Given the description of an element on the screen output the (x, y) to click on. 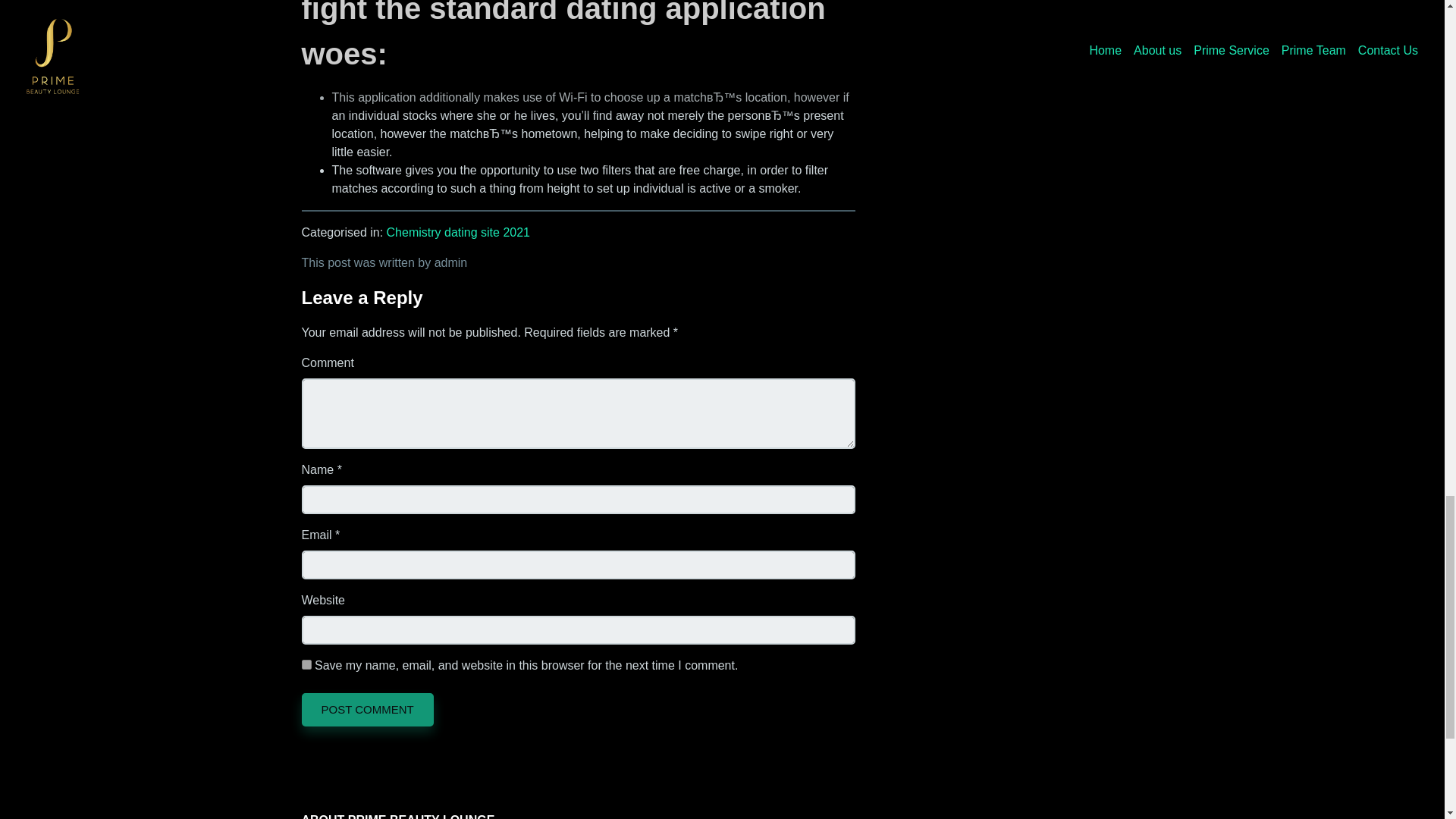
Chemistry dating site 2021 (458, 232)
Post Comment (367, 709)
yes (306, 664)
Post Comment (367, 709)
